Given the description of an element on the screen output the (x, y) to click on. 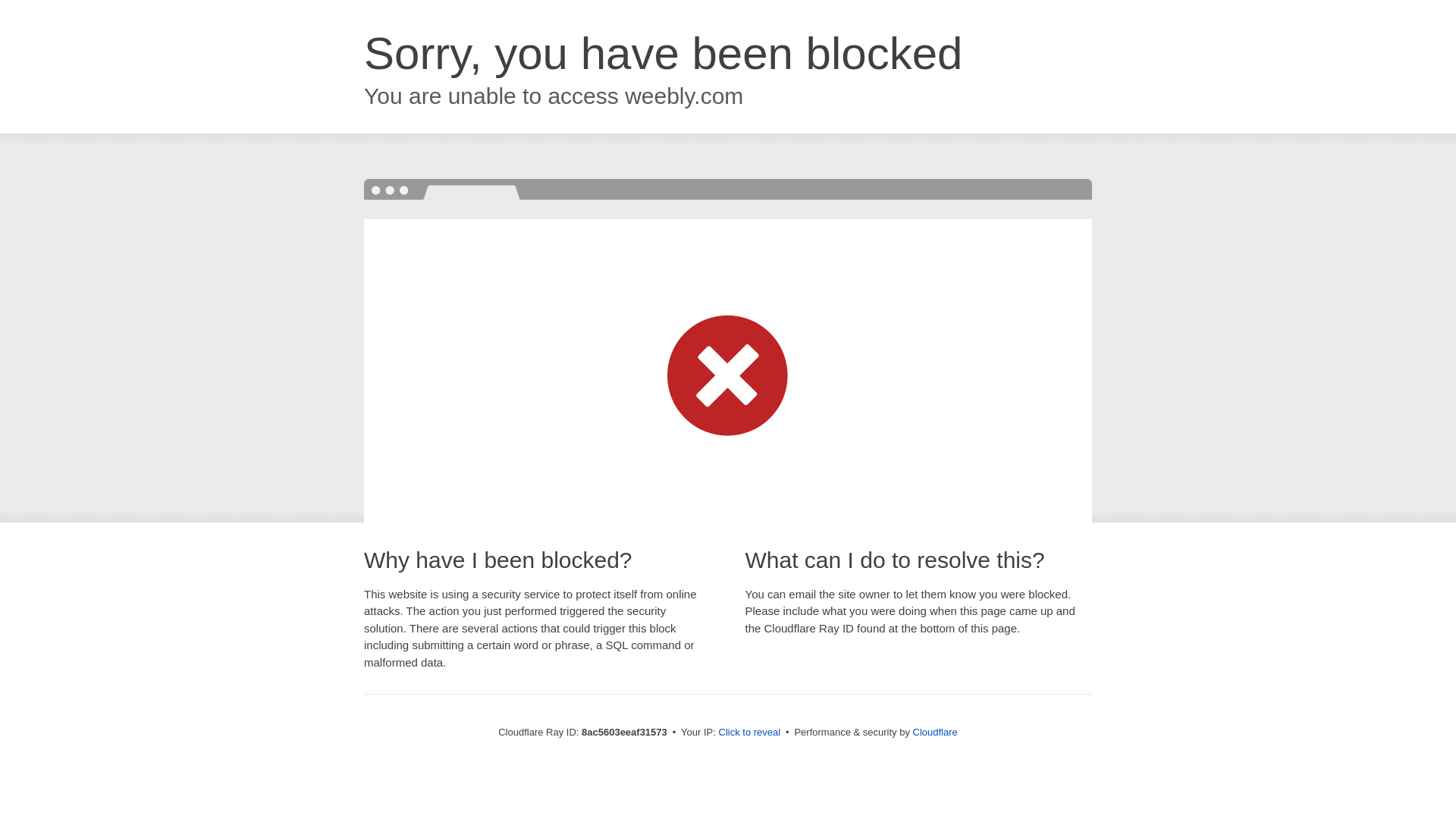
Click to reveal (749, 732)
Cloudflare (935, 731)
